Given the description of an element on the screen output the (x, y) to click on. 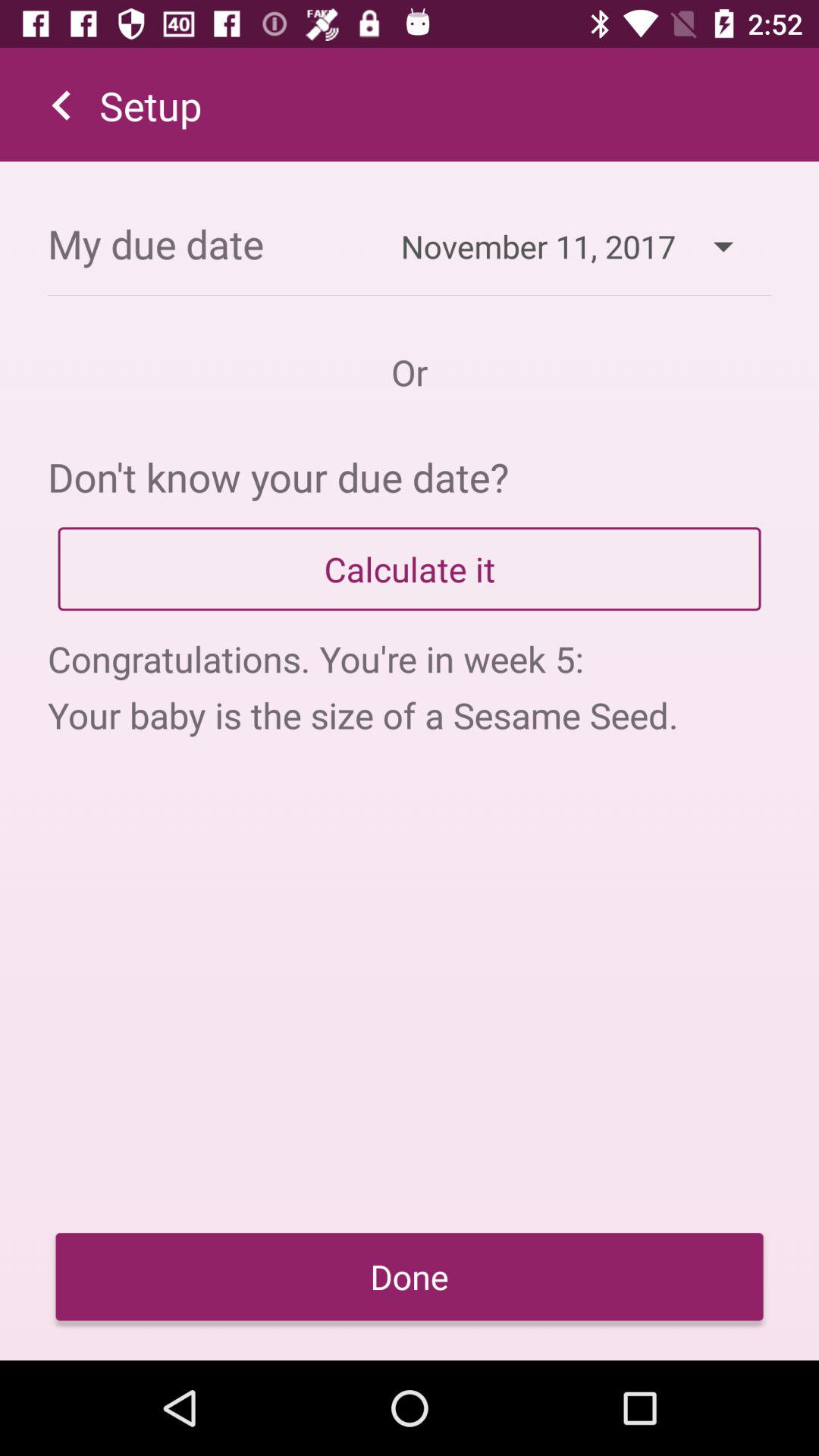
choose app below don t know item (409, 568)
